Given the description of an element on the screen output the (x, y) to click on. 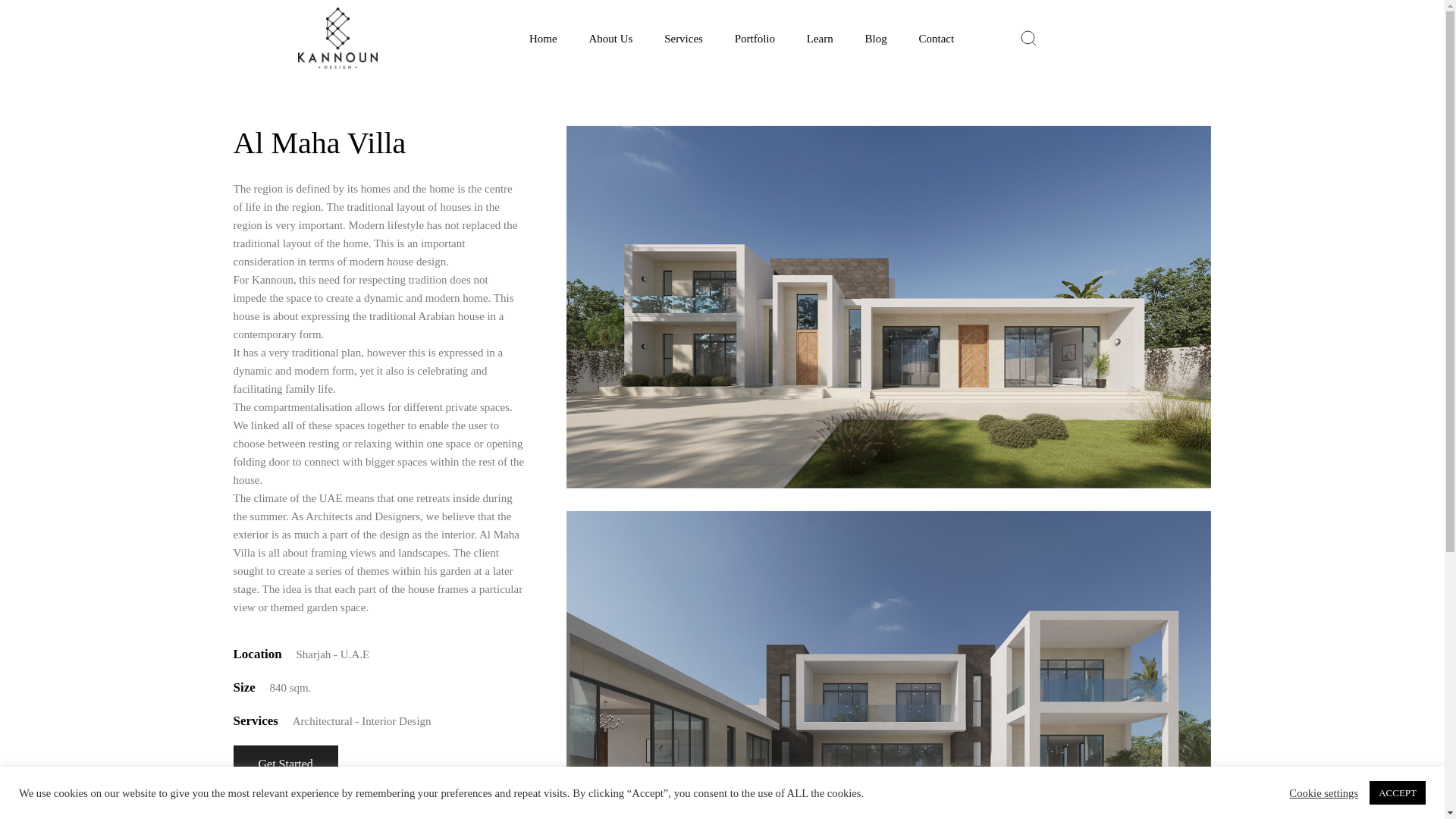
Portfolio (754, 38)
Services (683, 38)
Learn (819, 38)
Home (543, 38)
Contact (935, 38)
Blog (875, 38)
About Us (609, 38)
